Given the description of an element on the screen output the (x, y) to click on. 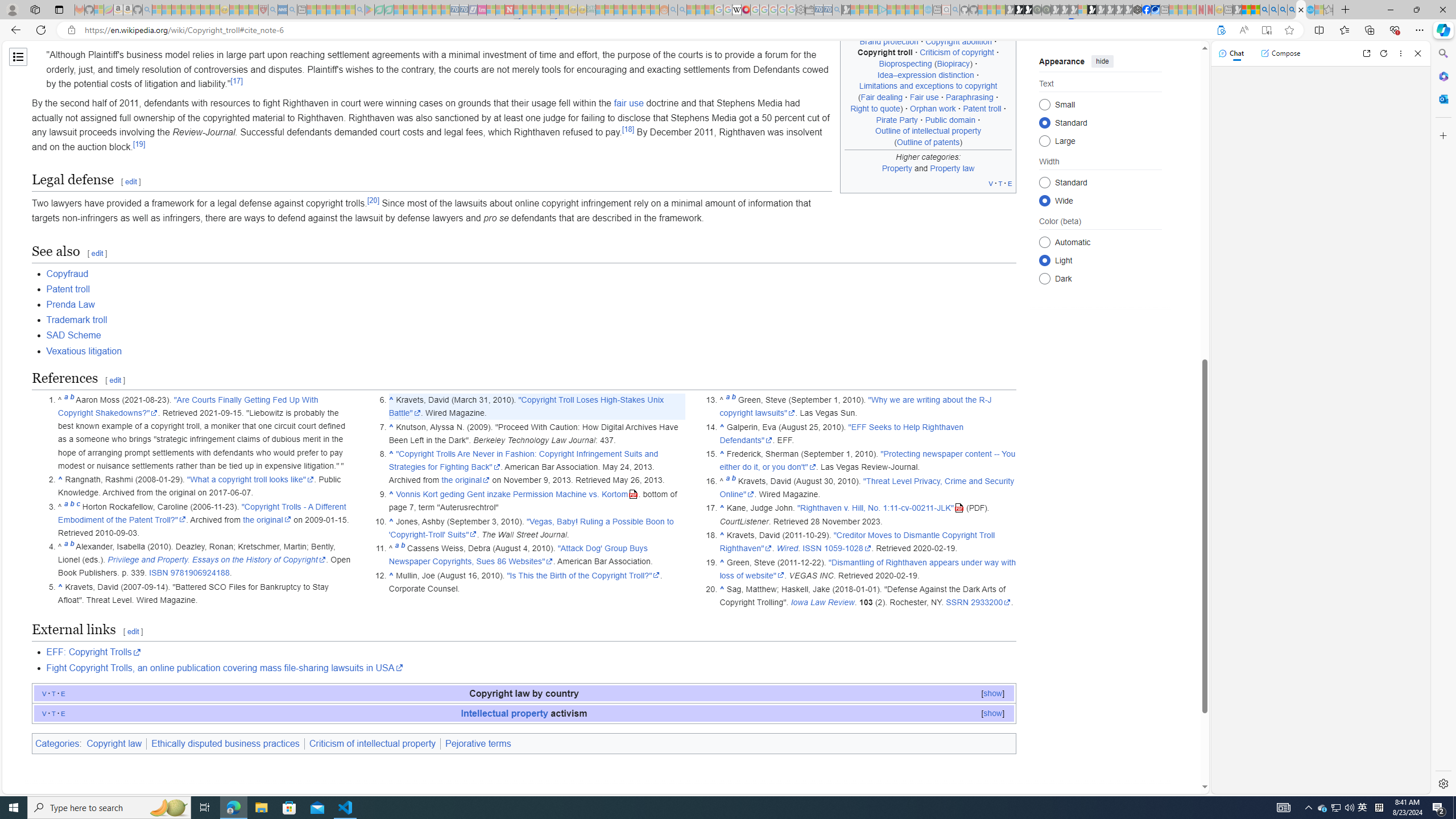
Cheap Car Rentals - Save70.com - Sleeping (827, 9)
c (77, 506)
Biopiracy (952, 63)
Play Zoo Boom in your browser | Games from Microsoft Start (1018, 9)
Limitations and exceptions to copyright (928, 85)
Vexatious litigation (531, 350)
